Given the description of an element on the screen output the (x, y) to click on. 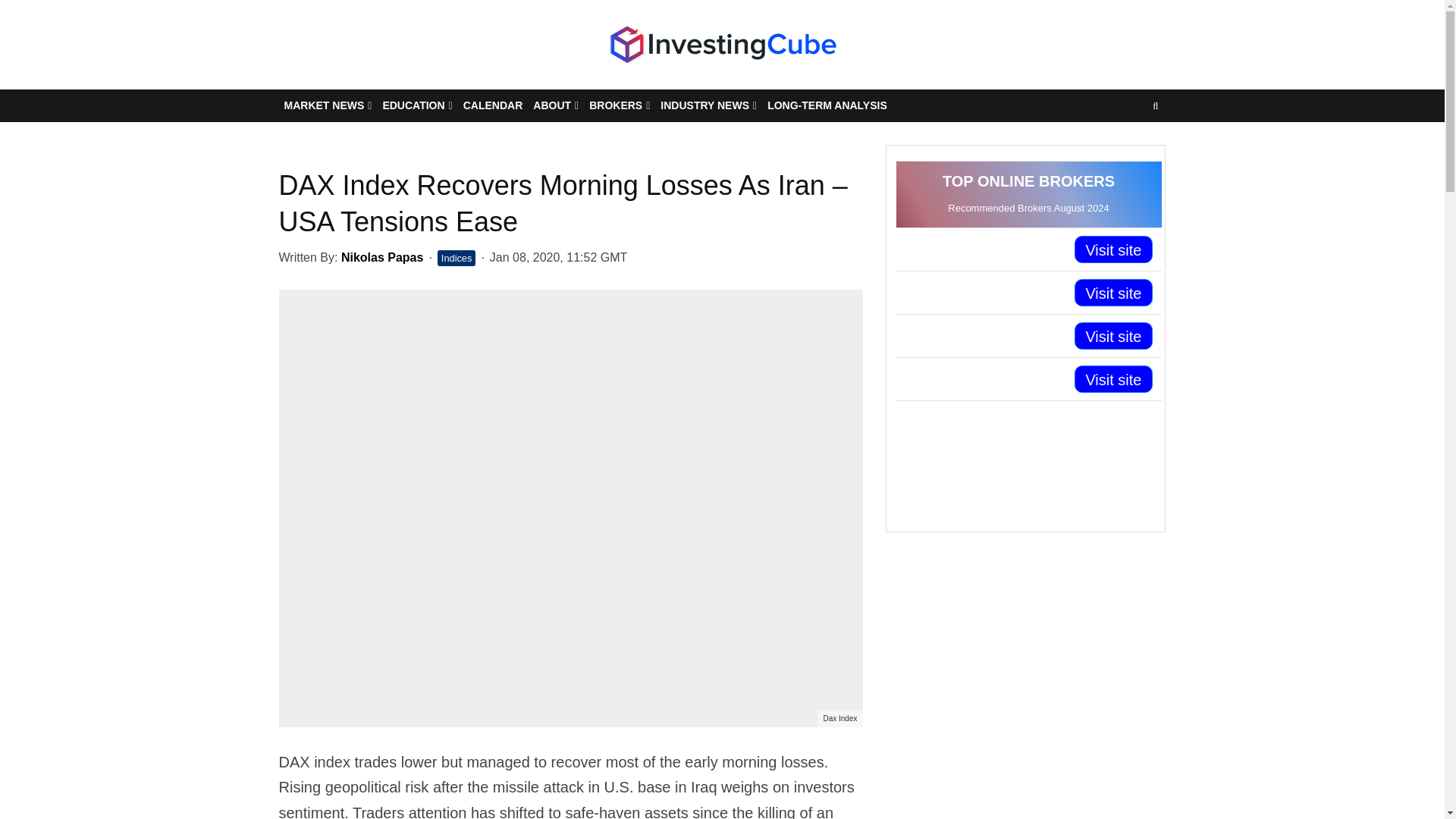
Nikolas Papas (381, 256)
INDUSTRY NEWS (708, 105)
ABOUT (555, 105)
LONG-TERM ANALYSIS (826, 105)
MARKET NEWS (328, 105)
CALENDAR (493, 105)
BROKERS (619, 105)
EDUCATION (417, 105)
